Given the description of an element on the screen output the (x, y) to click on. 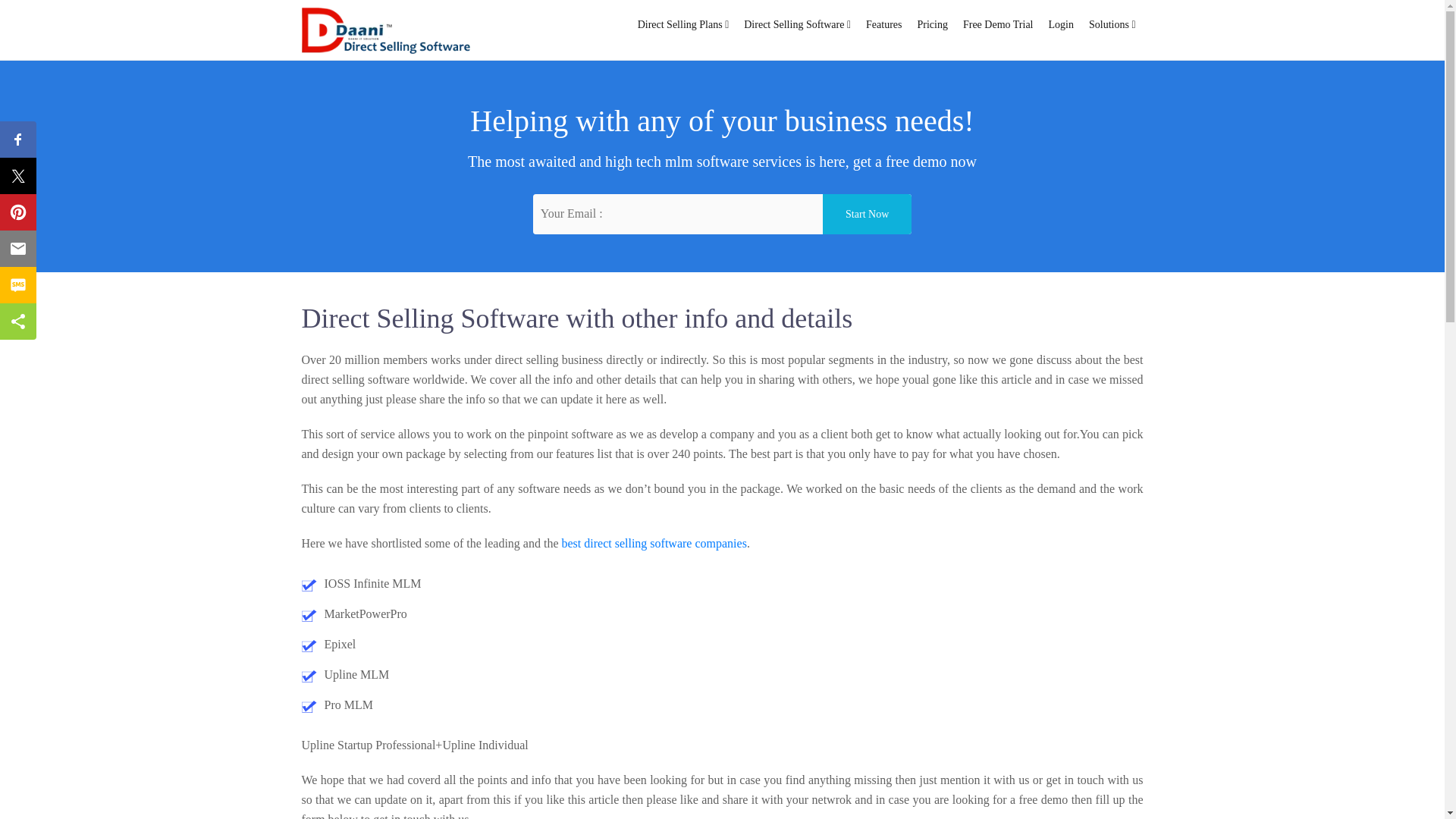
Start Now (866, 214)
Solutions (1111, 24)
Login (1061, 24)
Free Demo Trial (998, 24)
best direct selling software companies (652, 543)
Pricing (932, 24)
Direct Selling Software (797, 24)
Direct Selling Plans (683, 24)
Features (883, 24)
